Given the description of an element on the screen output the (x, y) to click on. 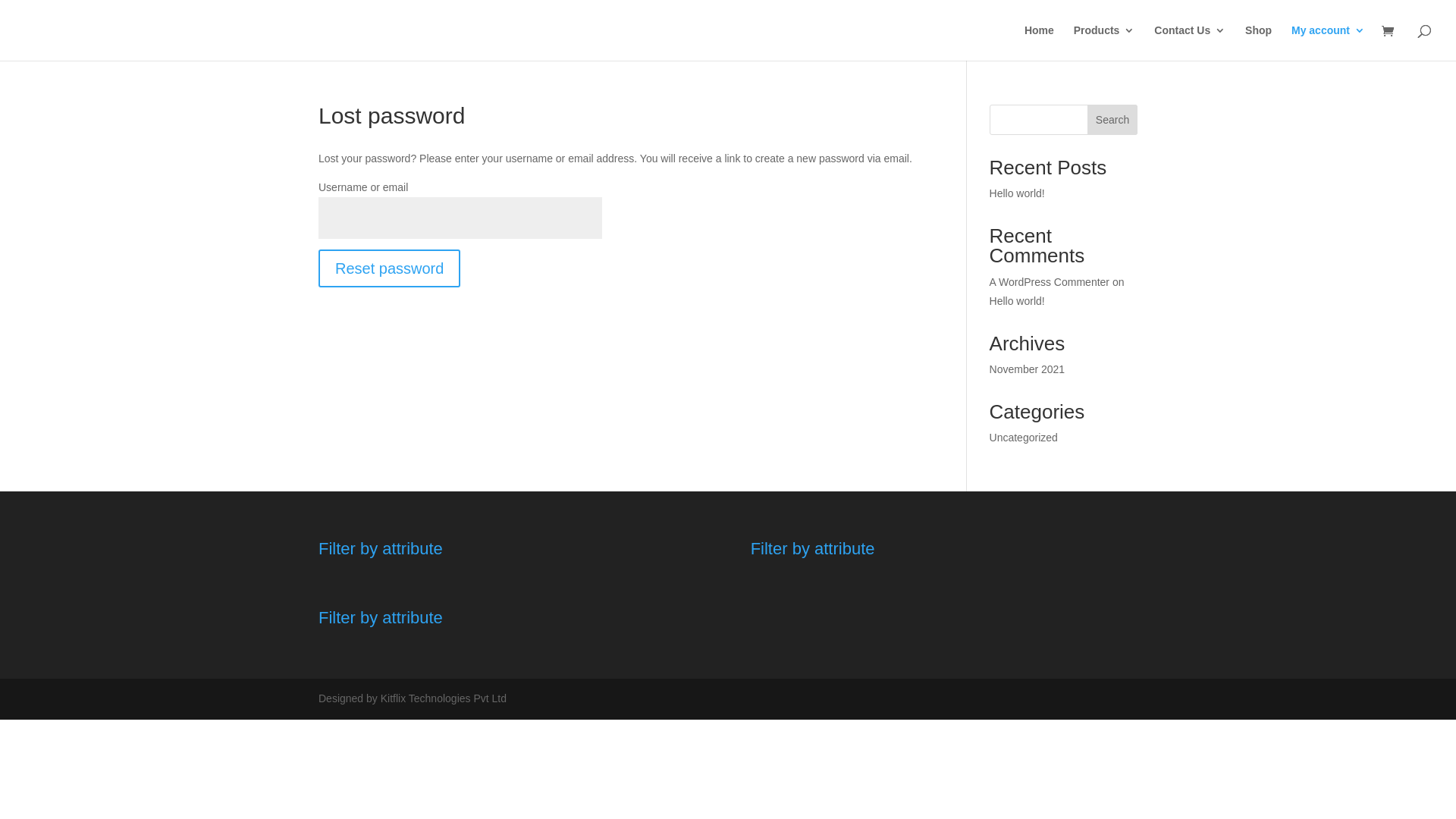
Products Element type: text (1104, 42)
Contact Us Element type: text (1189, 42)
My account Element type: text (1328, 42)
A WordPress Commenter Element type: text (1049, 282)
Hello world! Element type: text (1016, 193)
Shop Element type: text (1258, 42)
Search Element type: text (1112, 119)
November 2021 Element type: text (1027, 369)
Uncategorized Element type: text (1023, 437)
Reset password Element type: text (389, 268)
Home Element type: text (1039, 42)
Hello world! Element type: text (1016, 300)
